Given the description of an element on the screen output the (x, y) to click on. 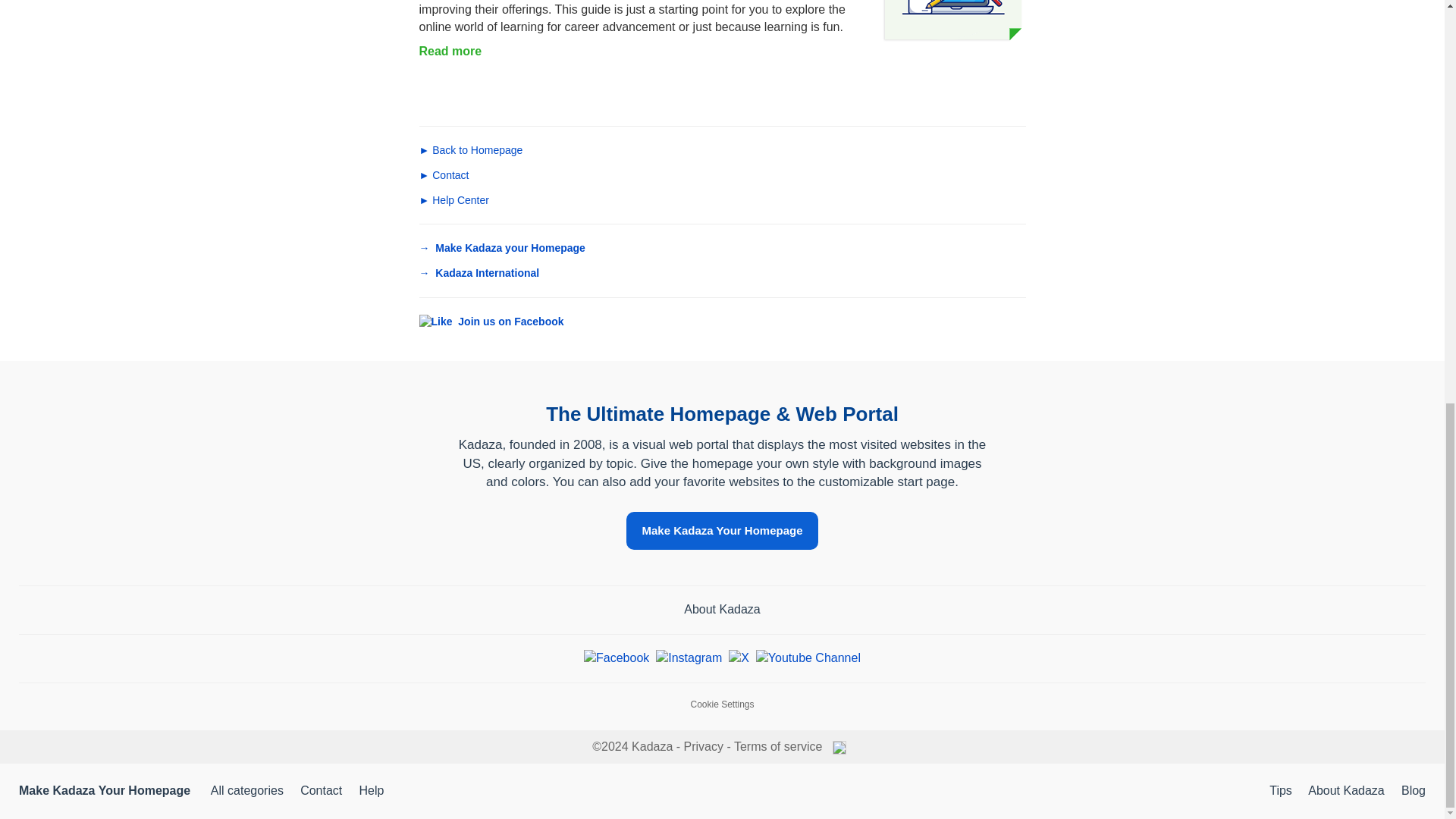
Kadaza videos (807, 658)
Kadaza on Twitter (739, 658)
yes (435, 322)
Read more (450, 51)
Kadaza on Facebook (616, 658)
Kadaza on Instagram (689, 658)
